Given the description of an element on the screen output the (x, y) to click on. 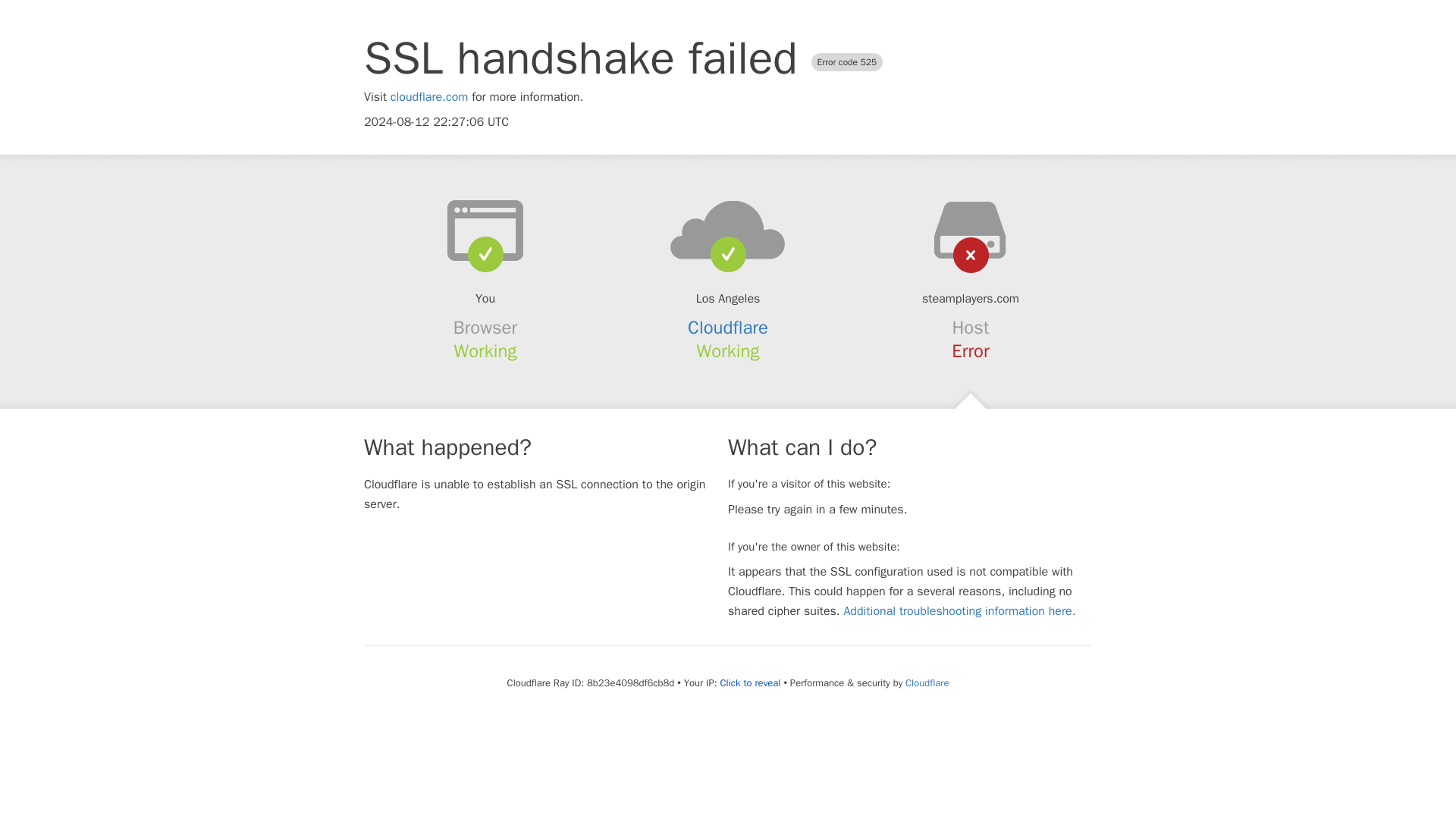
Click to reveal (750, 683)
cloudflare.com (429, 96)
Additional troubleshooting information here. (959, 611)
Cloudflare (727, 327)
Cloudflare (927, 682)
